Given the description of an element on the screen output the (x, y) to click on. 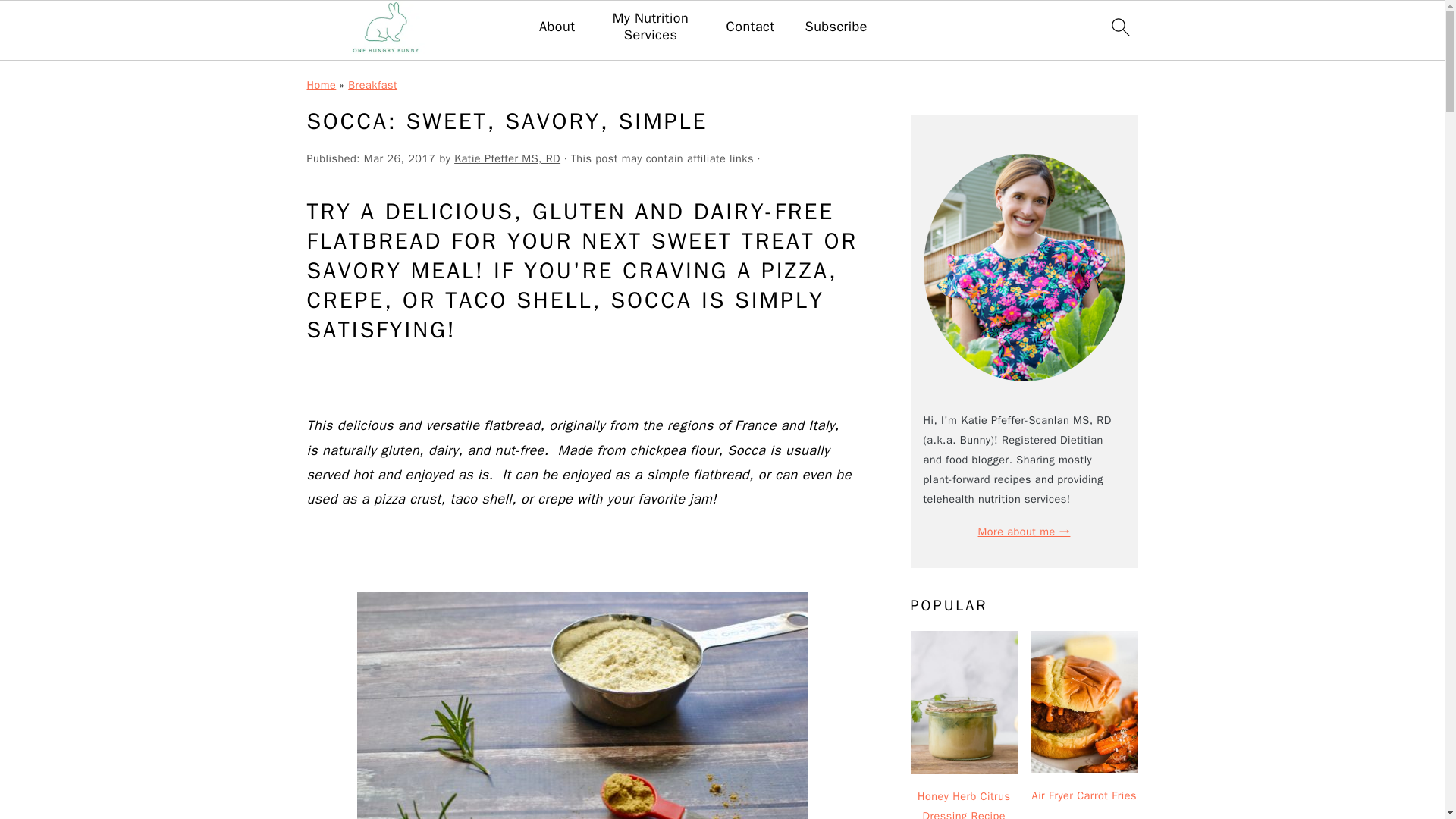
Home (320, 84)
dukkah (582, 705)
Contact (750, 27)
Subscribe (836, 27)
About (556, 27)
search icon (1119, 26)
Katie Pfeffer MS, RD (507, 158)
Breakfast (372, 84)
My Nutrition Services (650, 26)
